Given the description of an element on the screen output the (x, y) to click on. 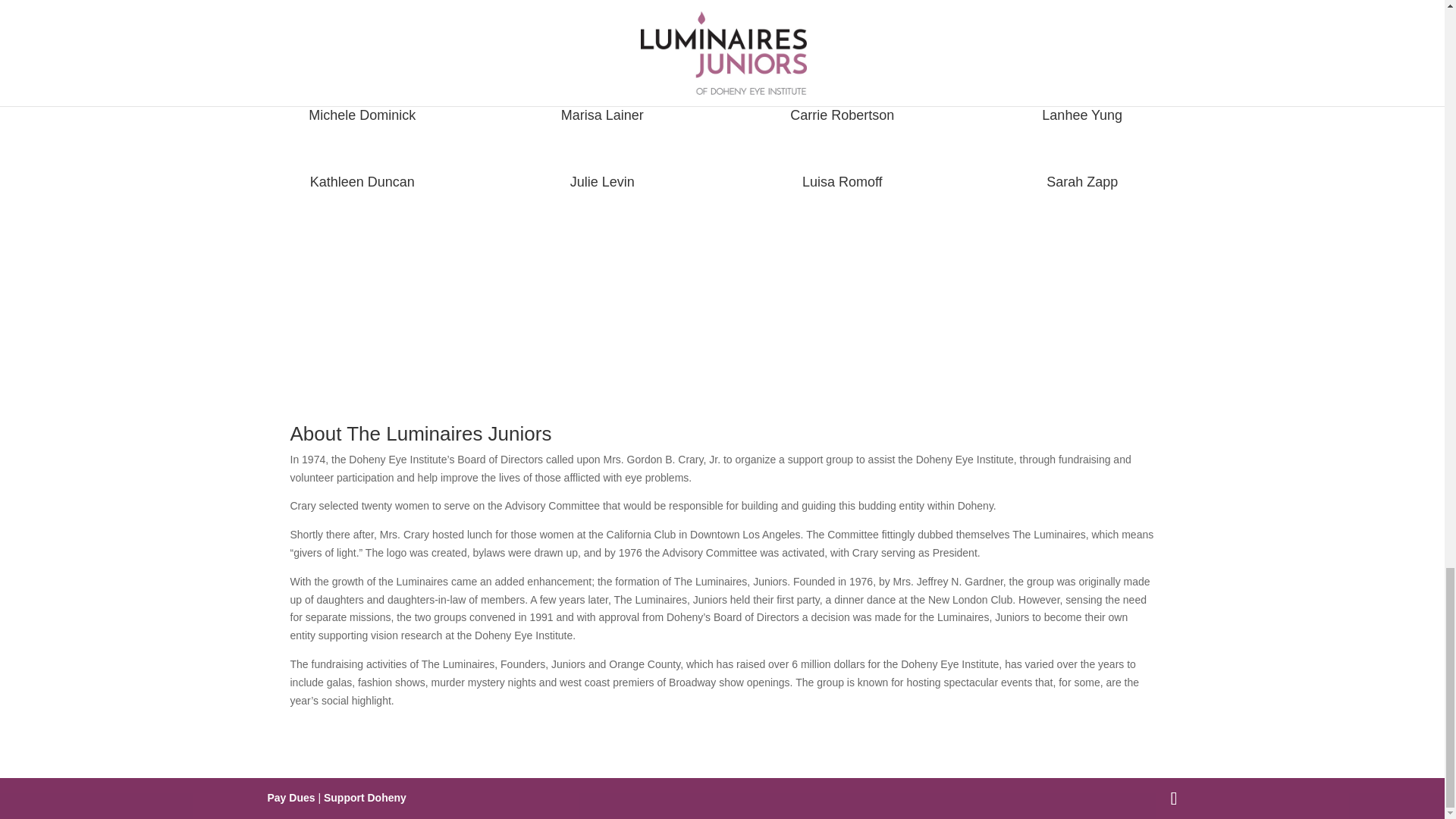
Support Doheny (364, 797)
Pay Dues (290, 797)
